Given the description of an element on the screen output the (x, y) to click on. 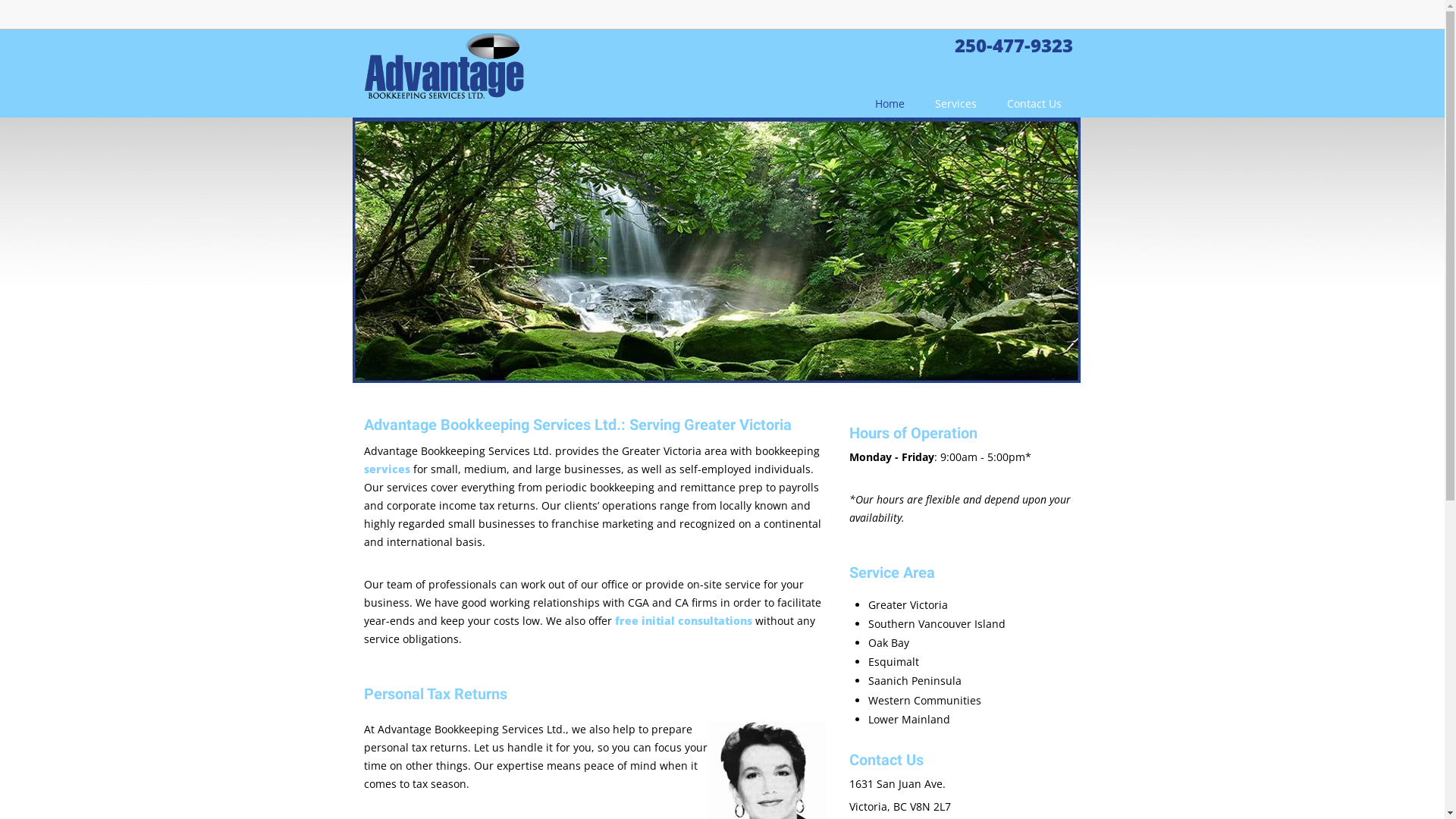
Contact Us Element type: text (1033, 103)
Home Element type: text (889, 103)
services Element type: text (387, 470)
Embedded Content Element type: hover (938, 22)
Services Element type: text (955, 103)
free initial consultations Element type: text (682, 622)
250-477-9323 Element type: text (1012, 49)
Embedded Content Element type: hover (1063, 19)
